Given the description of an element on the screen output the (x, y) to click on. 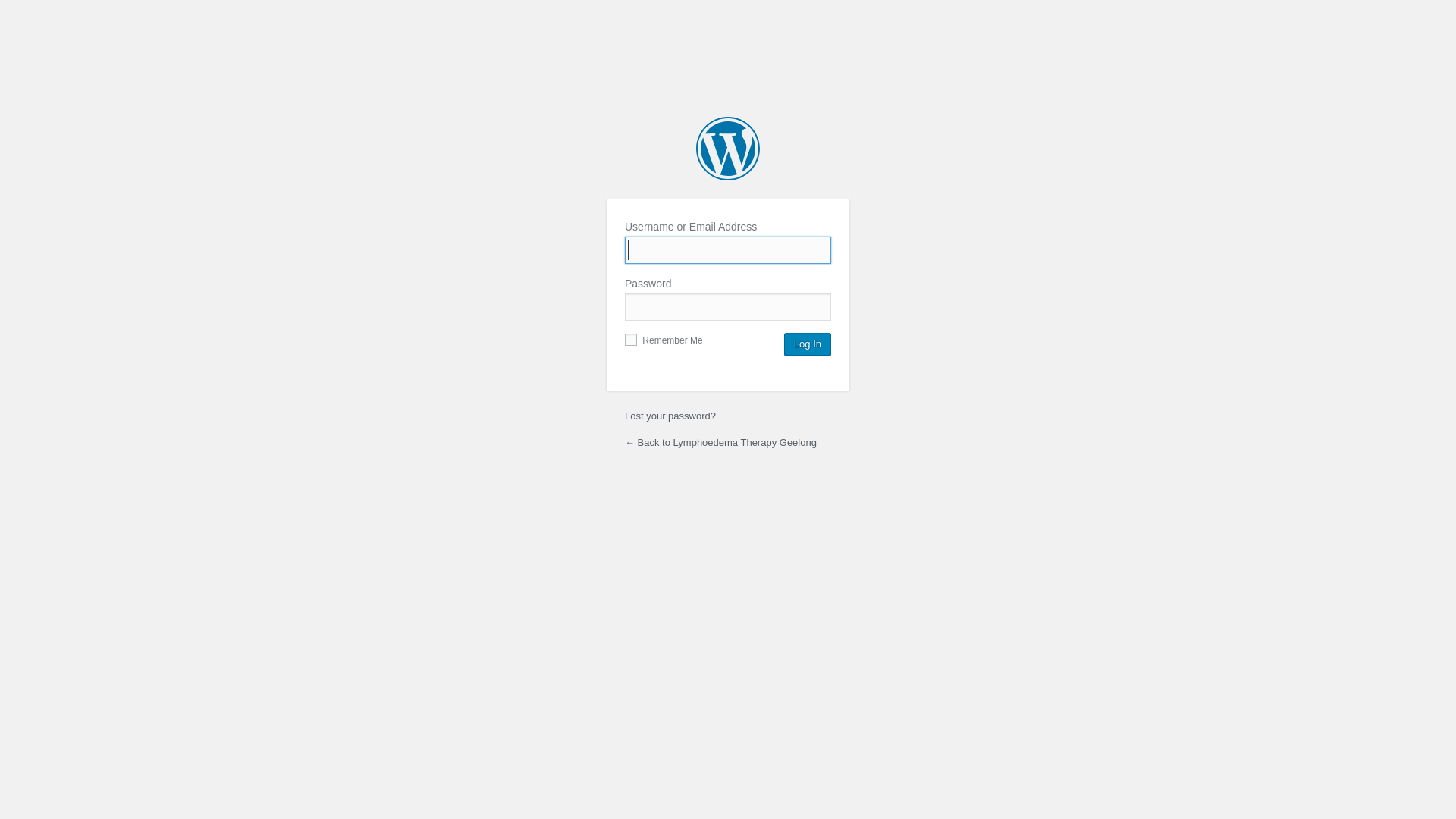
Powered by WordPress Element type: text (727, 148)
Lost your password? Element type: text (669, 415)
Log In Element type: text (807, 343)
